Given the description of an element on the screen output the (x, y) to click on. 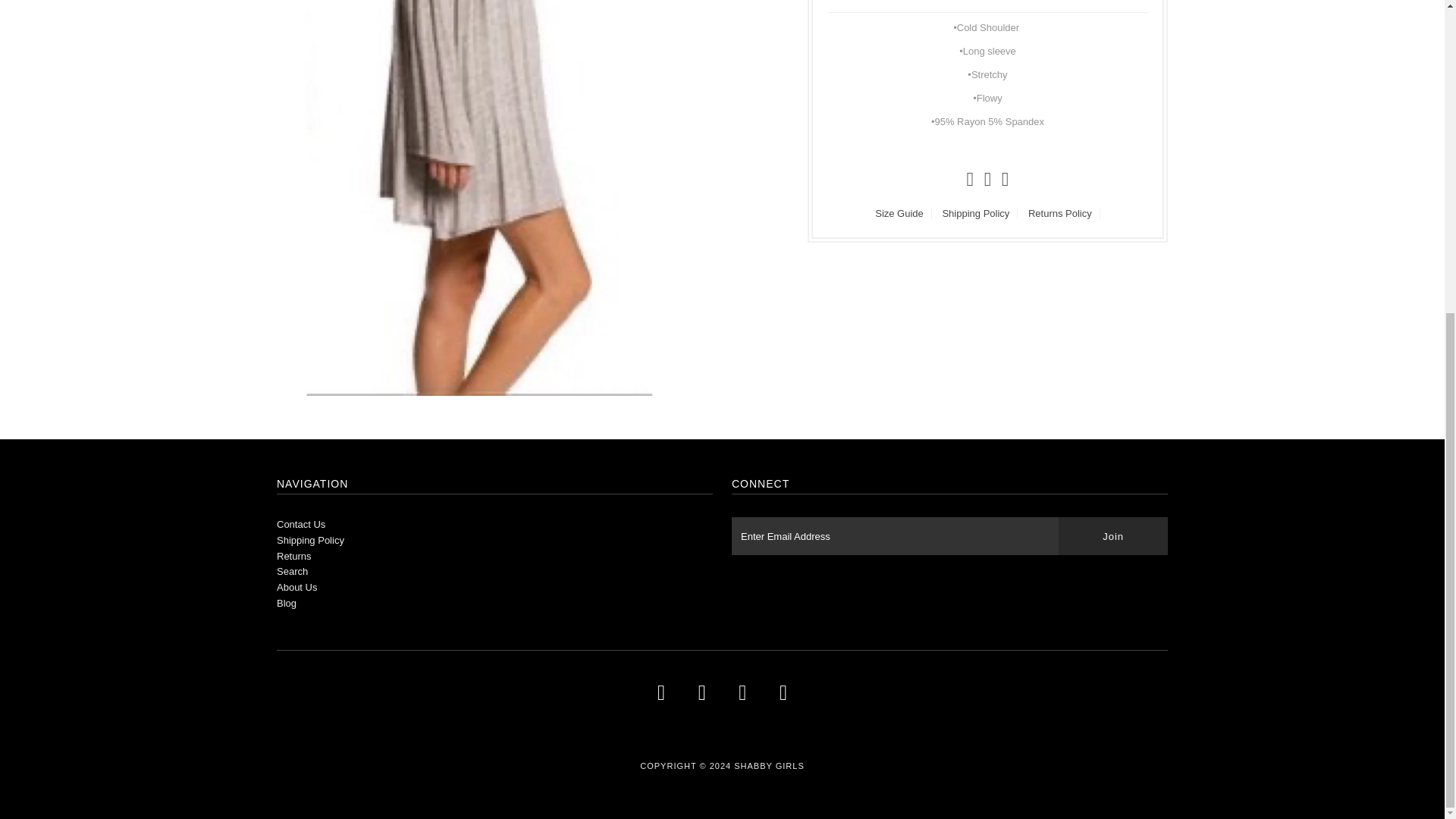
Join (1112, 535)
